Given the description of an element on the screen output the (x, y) to click on. 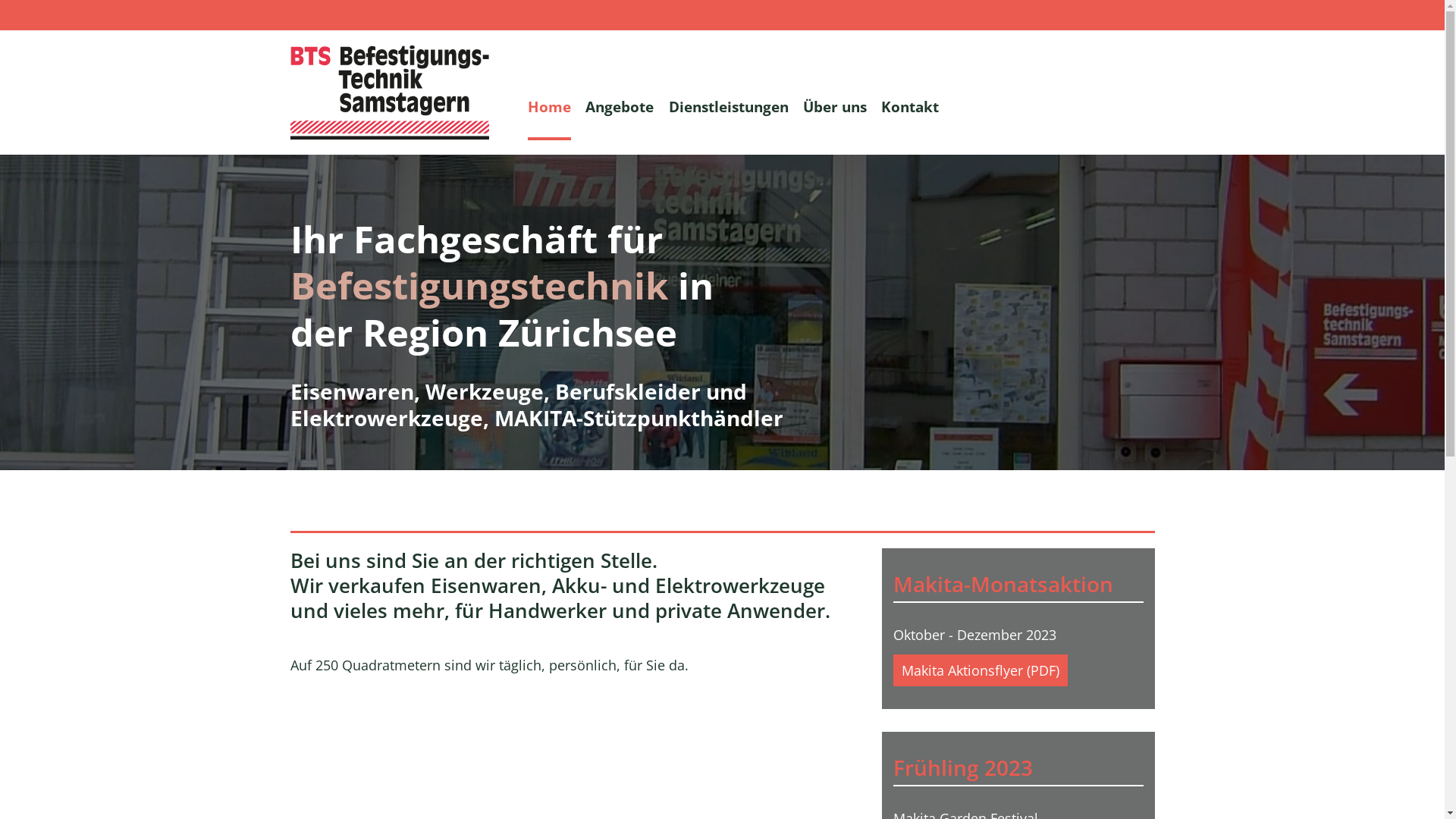
Kontakt Element type: text (909, 106)
Makita Aktionsflyer (PDF) Element type: text (980, 670)
Angebote Element type: text (619, 106)
Home Element type: text (548, 106)
Dienstleistungen Element type: text (728, 106)
